Given the description of an element on the screen output the (x, y) to click on. 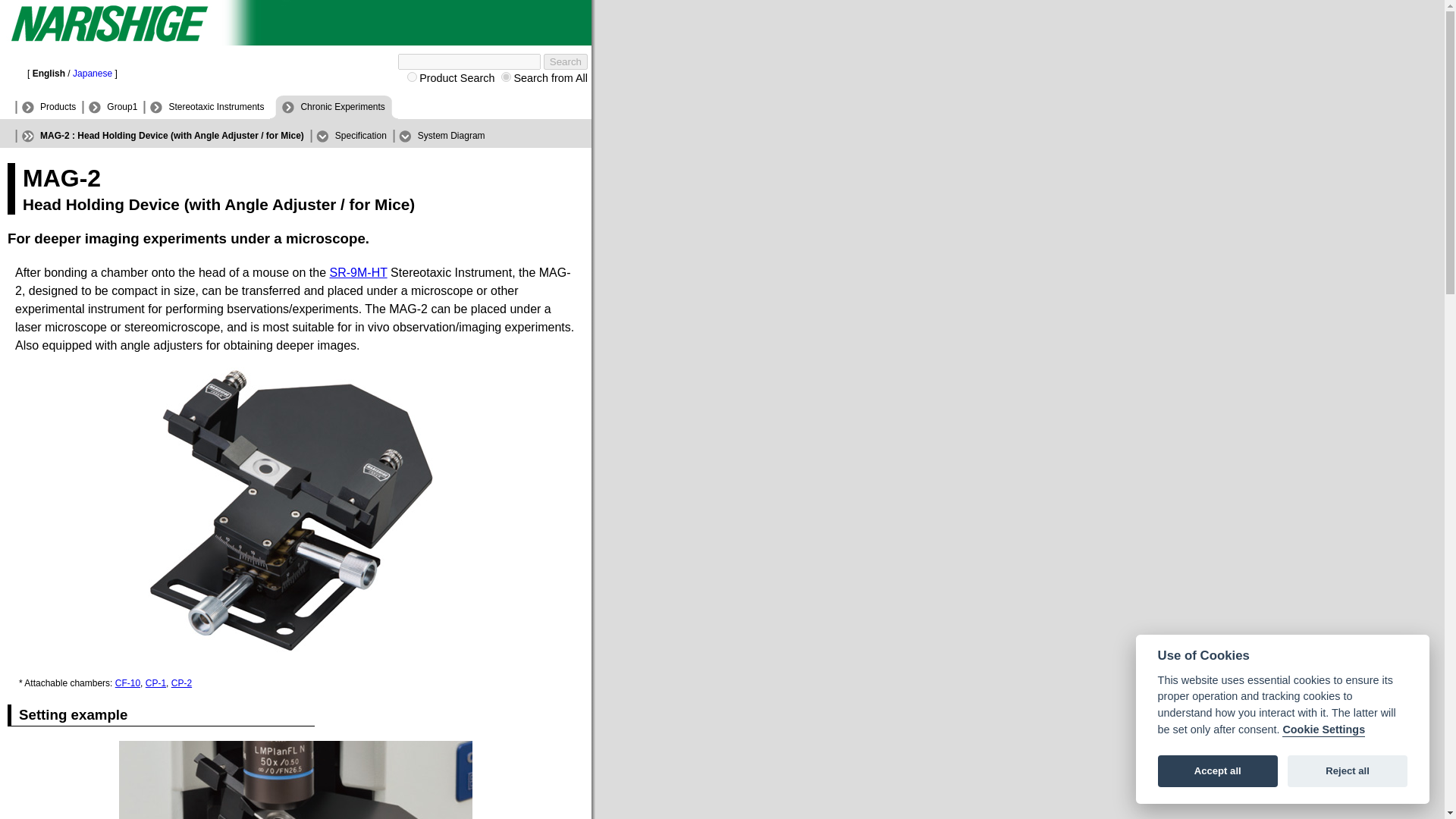
Stereotaxic Instruments (202, 106)
Cookie Settings (1323, 730)
Search (565, 61)
Group1 (108, 106)
ID (411, 76)
CF-10 (127, 683)
CP-1 (155, 683)
Products (44, 106)
Stereotaxic  Instruments (202, 106)
CP-2 (181, 683)
Search (565, 61)
Change to Japanese Page (92, 72)
CF-10 (127, 683)
Specification (348, 135)
CP-2 (181, 683)
